Given the description of an element on the screen output the (x, y) to click on. 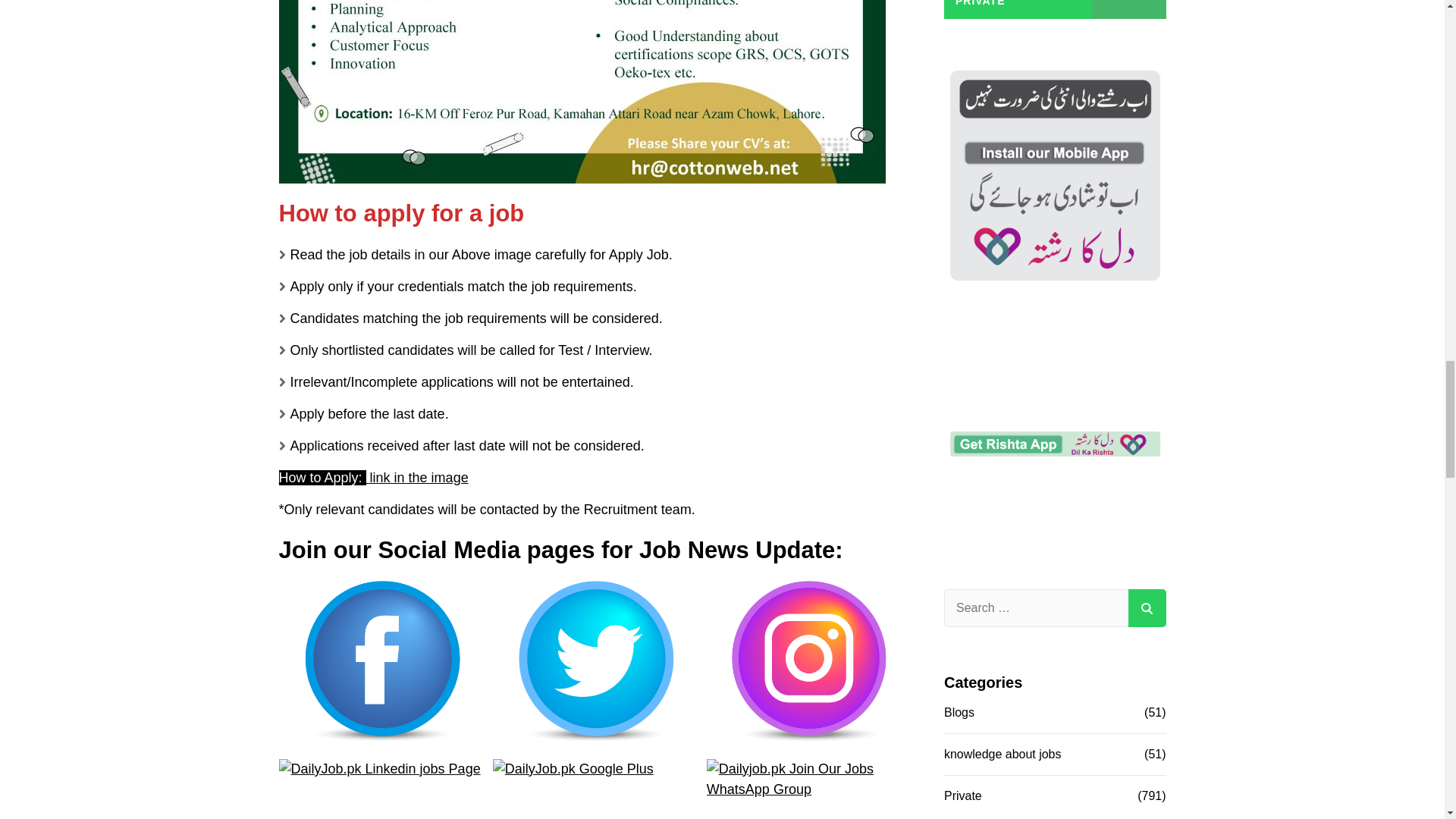
Search (1147, 607)
How to Apply:  link in the image (373, 477)
Search (1147, 607)
Aamir Ads System (1054, 481)
Aamir Ads System (1054, 218)
